Given the description of an element on the screen output the (x, y) to click on. 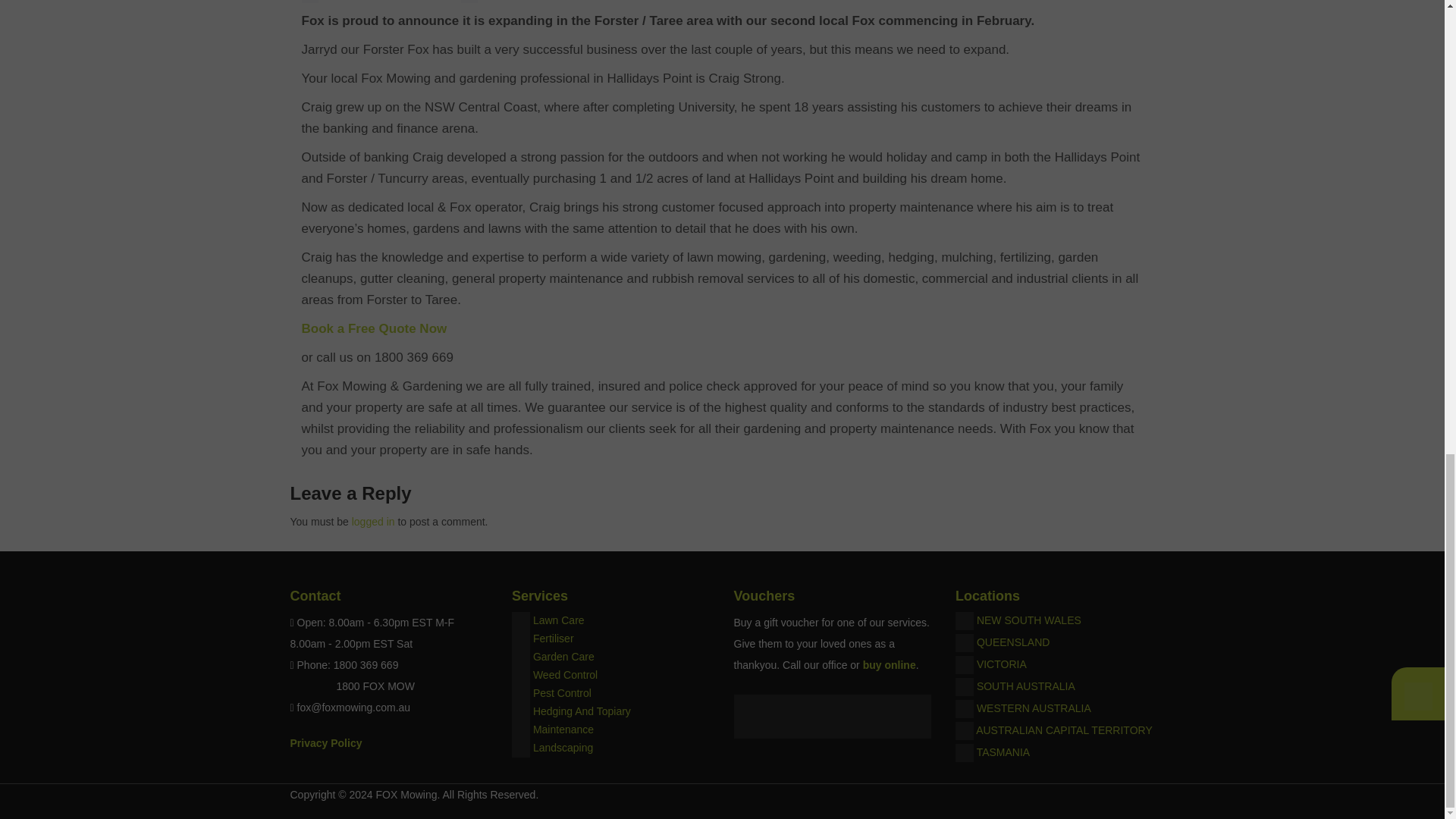
WESTERN AUSTRALIA (1033, 707)
Landscaping (562, 747)
QUEENSLAND (1012, 642)
Pest Control (561, 693)
SOUTH AUSTRALIA (1025, 686)
Fertiliser (552, 638)
Maintenance (563, 729)
buy online (889, 664)
Book a Free Quote Now (373, 328)
Weed Control (564, 674)
VICTORIA (1001, 664)
Lawn Care (558, 620)
logged in (373, 521)
Hedging And Topiary (581, 711)
Garden Care (563, 656)
